Given the description of an element on the screen output the (x, y) to click on. 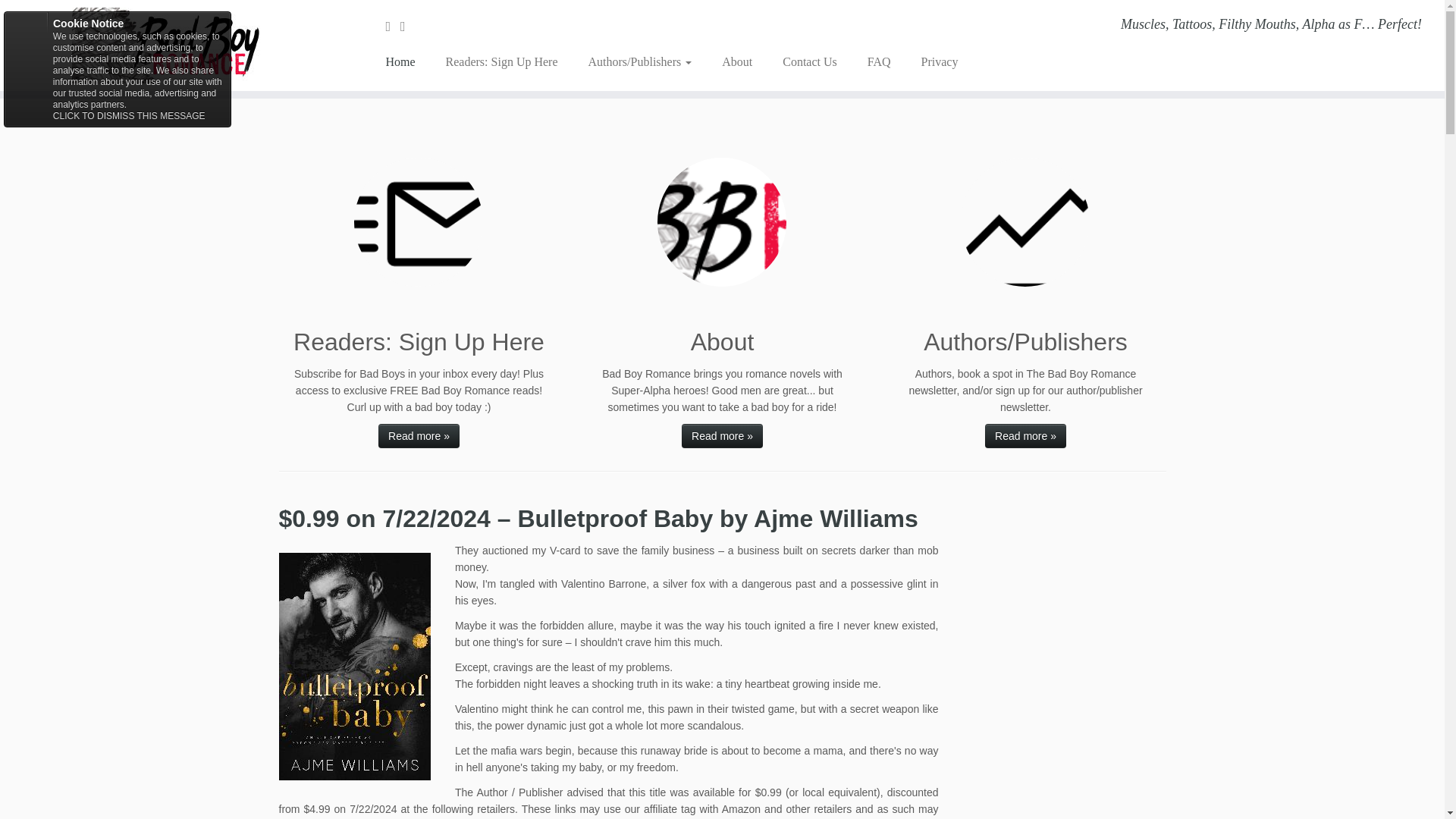
About (736, 61)
Follow me on Facebook (407, 26)
Privacy (931, 61)
Contact Us (809, 61)
Readers: Sign Up Here (501, 61)
FAQ (878, 61)
Subscribe to my rss feed (392, 26)
Home (405, 61)
